Given the description of an element on the screen output the (x, y) to click on. 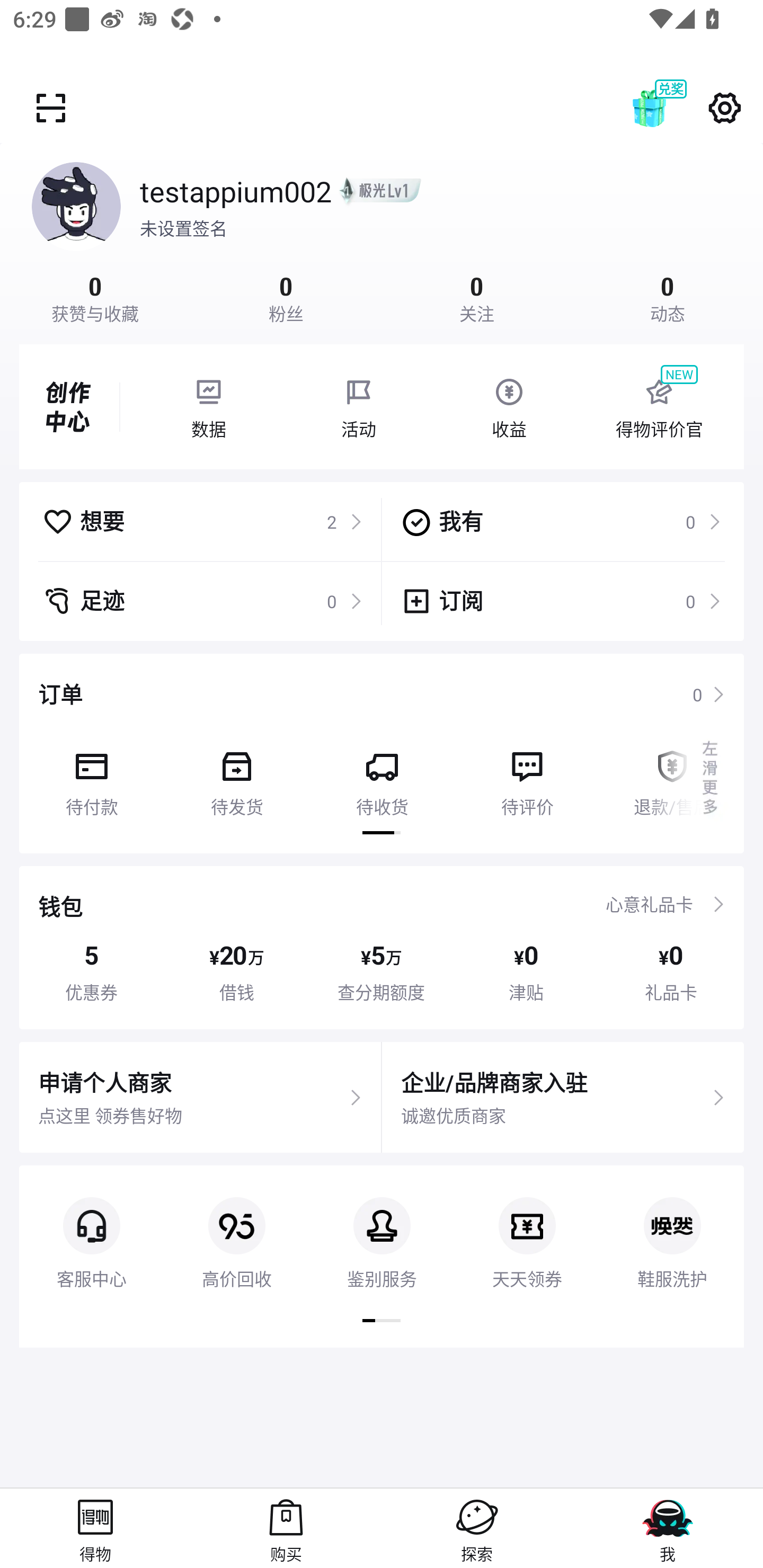
兑奖 (667, 107)
testappium002 未设置签名 0 获赞与收藏 0 粉丝 0 关注 0 动态 (381, 233)
0 获赞与收藏 (95, 296)
0 粉丝 (285, 296)
0 关注 (476, 296)
0 动态 (667, 296)
数据 (208, 406)
活动 (358, 406)
收益 (508, 406)
NEW 得物评价官 (658, 406)
想要 2 (201, 521)
我有 0 (560, 521)
足迹 0 (201, 601)
订阅 0 (560, 601)
订单 0 待付款 待发货 待收货 待评价 退款/售后 (381, 752)
待付款 (91, 776)
待发货 (236, 776)
待收货 (381, 776)
待评价 (526, 776)
退款/售后 (671, 776)
心意礼品卡 (648, 903)
5 优惠券 (91, 971)
¥ 20 万 借钱 (236, 971)
¥ 5 万 查分期额度 (381, 971)
¥ 0 津贴 (525, 971)
¥ 0 礼品卡 (670, 971)
申请个人商家 点这里 领券售好物 (199, 1097)
企业/品牌商家入驻 诚邀优质商家 (562, 1097)
客服中心 (91, 1227)
高价回收 (236, 1227)
鉴别服务 (381, 1227)
天天领券 (526, 1227)
鞋服洗护 (671, 1227)
得物 (95, 1528)
购买 (285, 1528)
探索 (476, 1528)
我 (667, 1528)
